Given the description of an element on the screen output the (x, y) to click on. 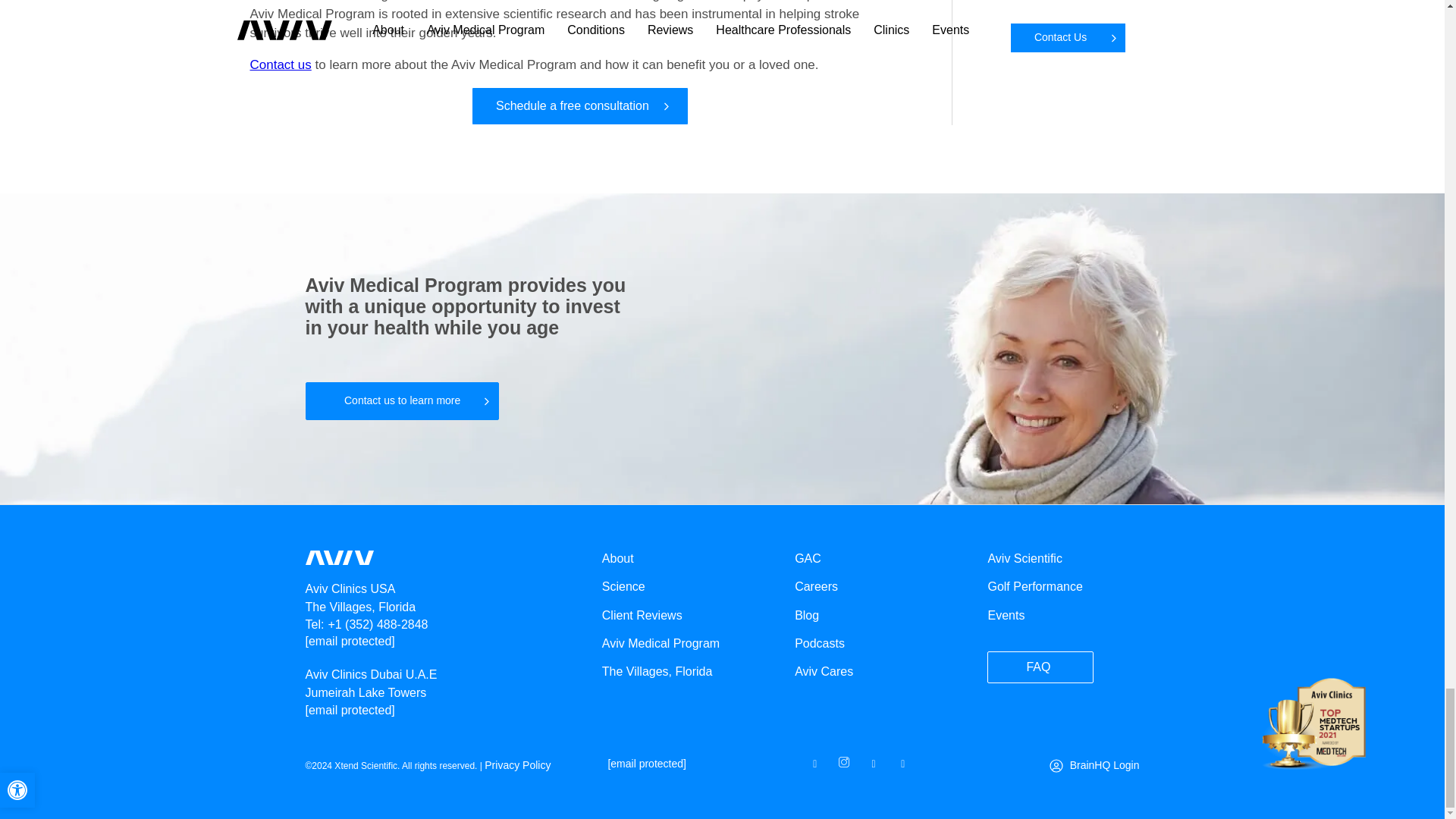
Contact us to learn more (400, 401)
